Given the description of an element on the screen output the (x, y) to click on. 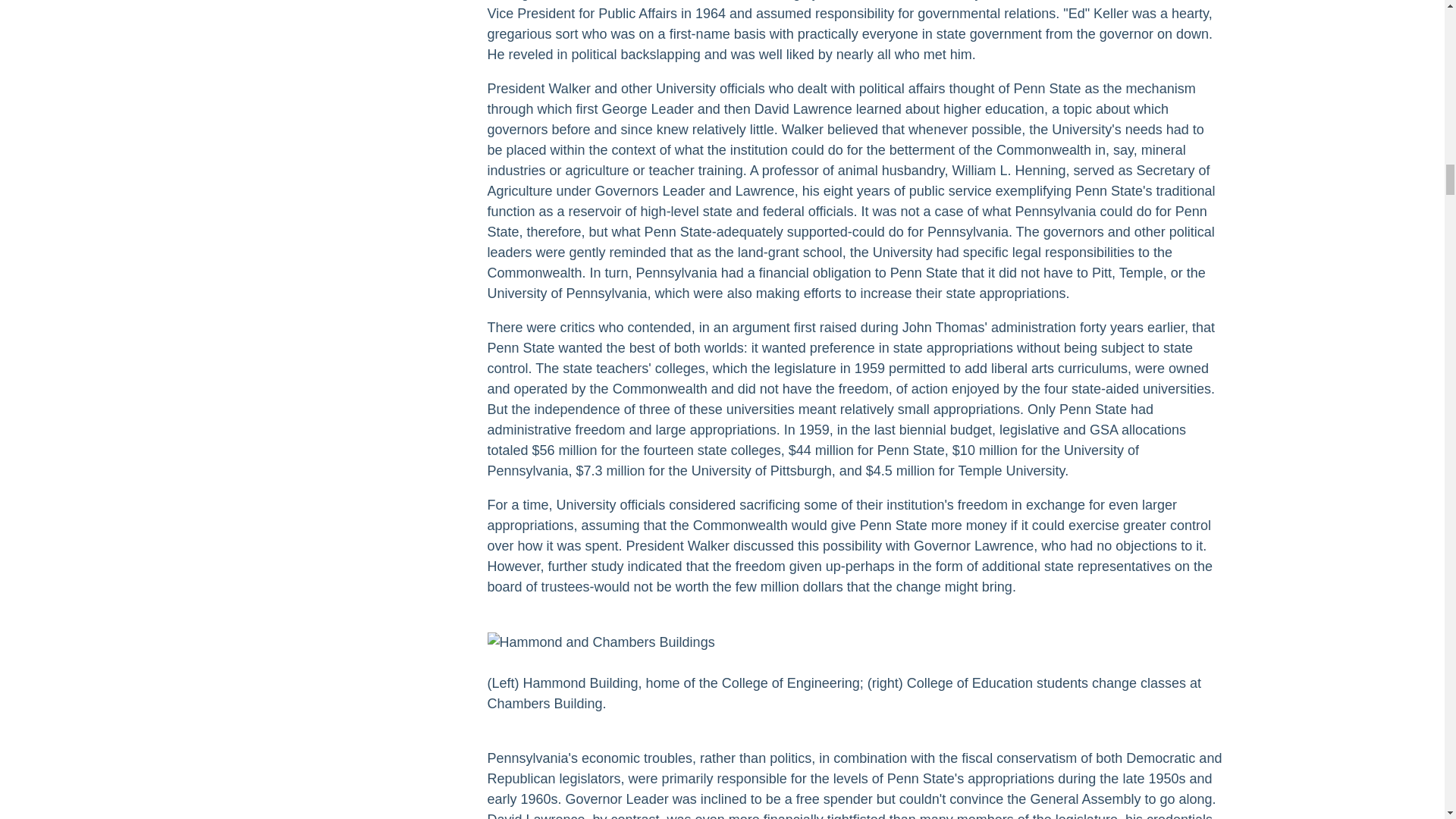
1288276363382.jpg (600, 642)
